Given the description of an element on the screen output the (x, y) to click on. 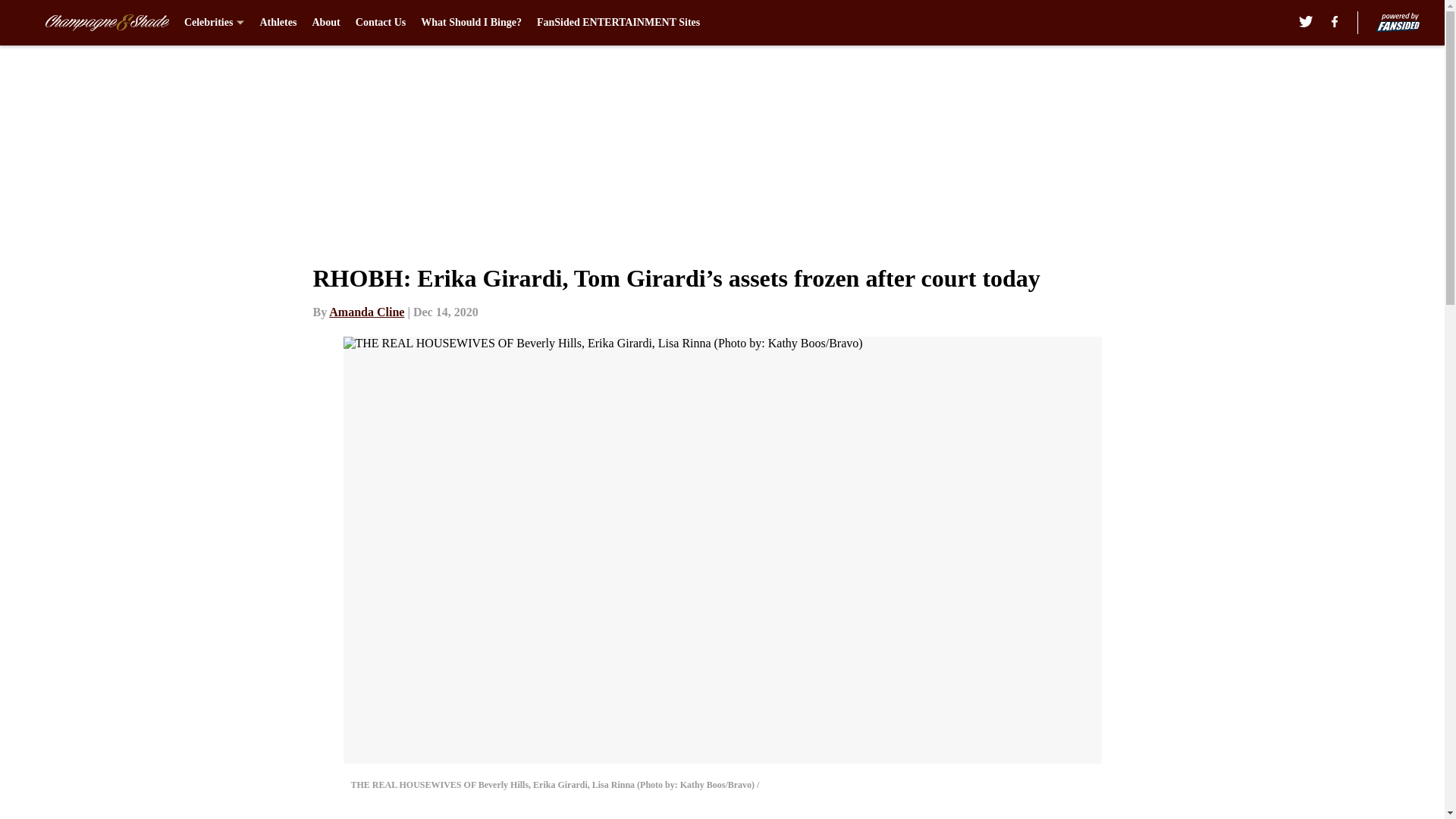
Athletes (278, 22)
About (325, 22)
Contact Us (380, 22)
What Should I Binge? (470, 22)
FanSided ENTERTAINMENT Sites (618, 22)
Amanda Cline (366, 311)
